Given the description of an element on the screen output the (x, y) to click on. 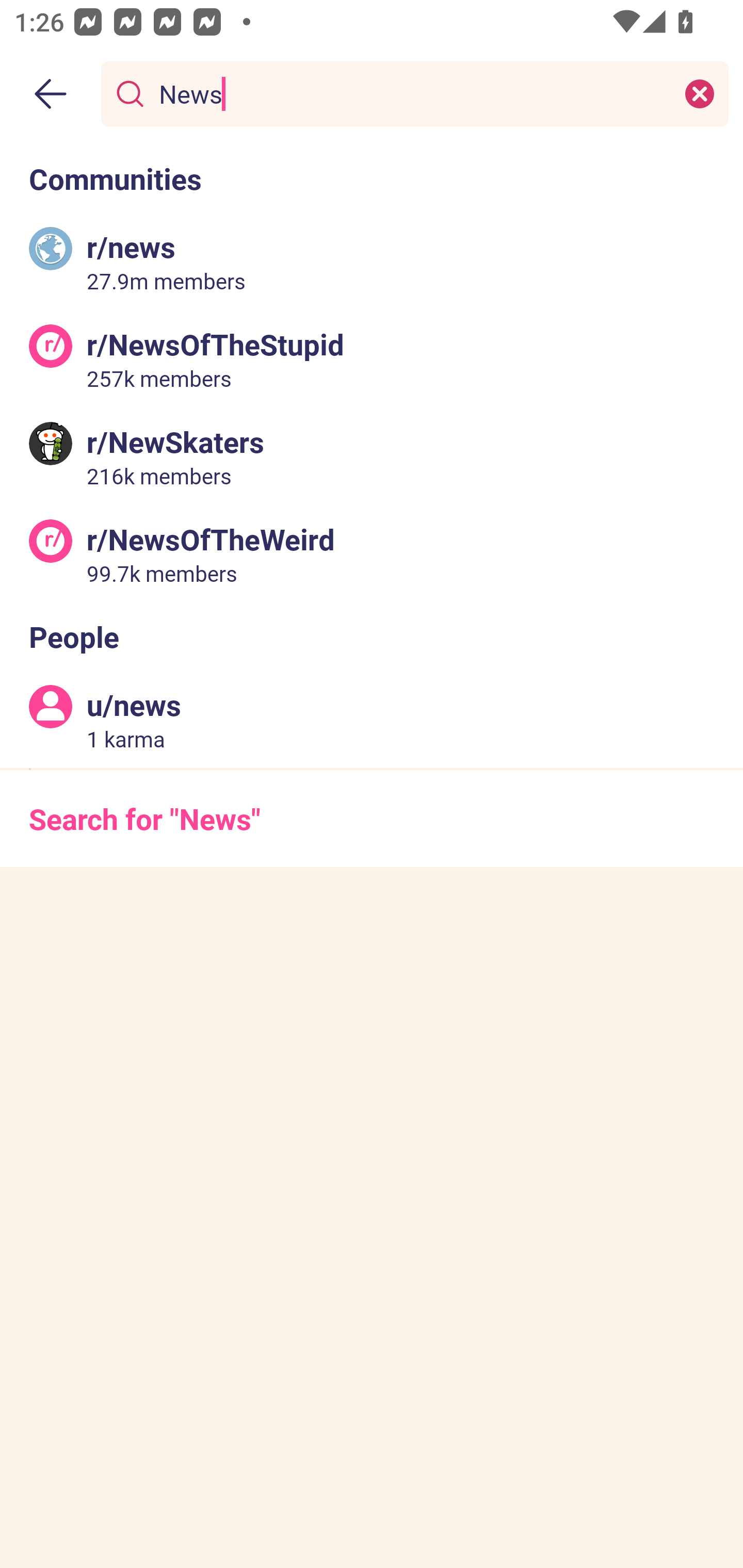
Back (50, 93)
News (410, 93)
Clear search (699, 93)
r/news 27.9m members 27.9 million members (371, 261)
r/NewSkaters 216k members 216 thousand members (371, 455)
u/news 1 karma 1 karma (371, 719)
Search for "News" (371, 818)
